Given the description of an element on the screen output the (x, y) to click on. 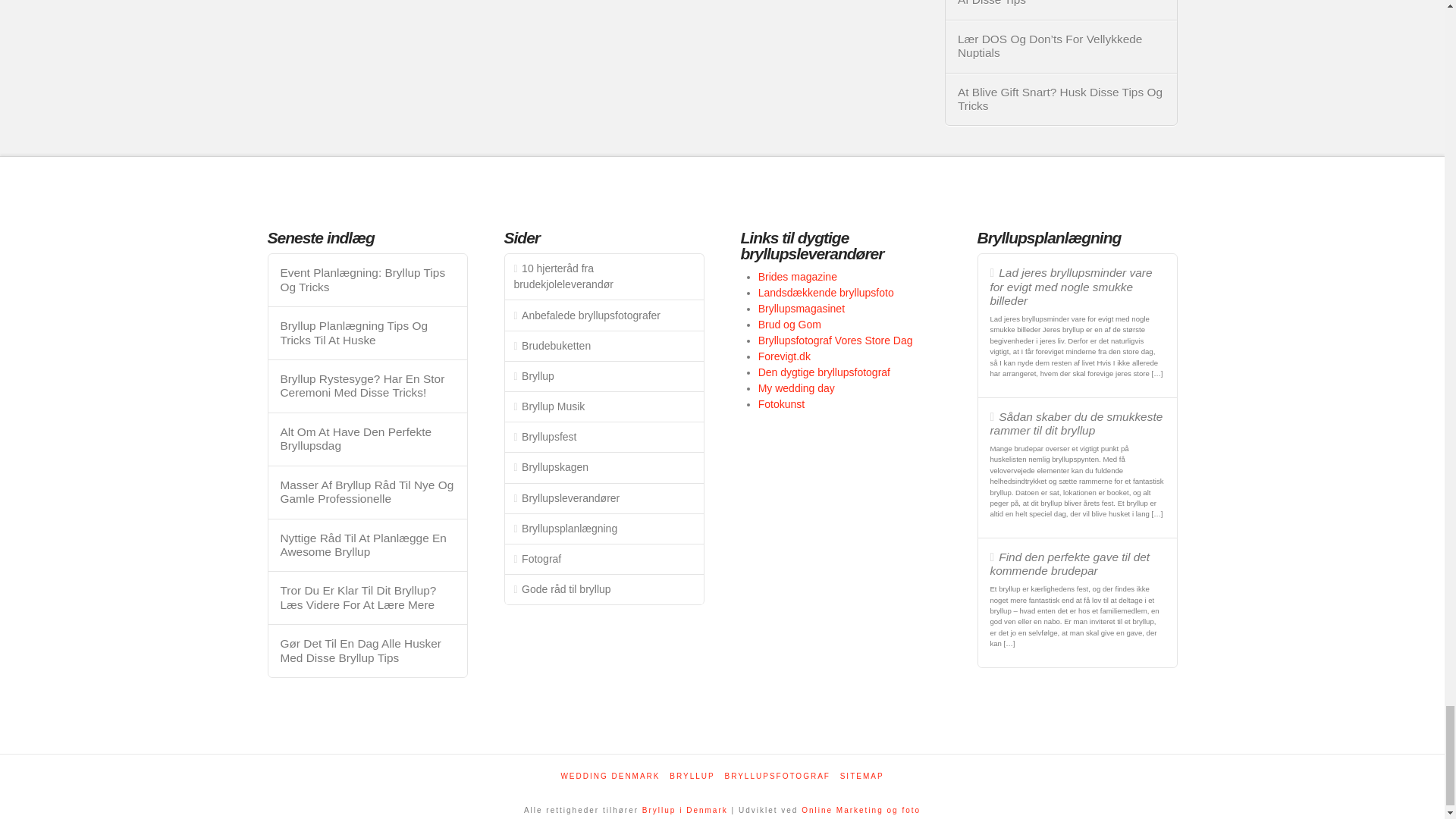
Bryllup (685, 809)
Online Marketing og foto (861, 809)
